Given the description of an element on the screen output the (x, y) to click on. 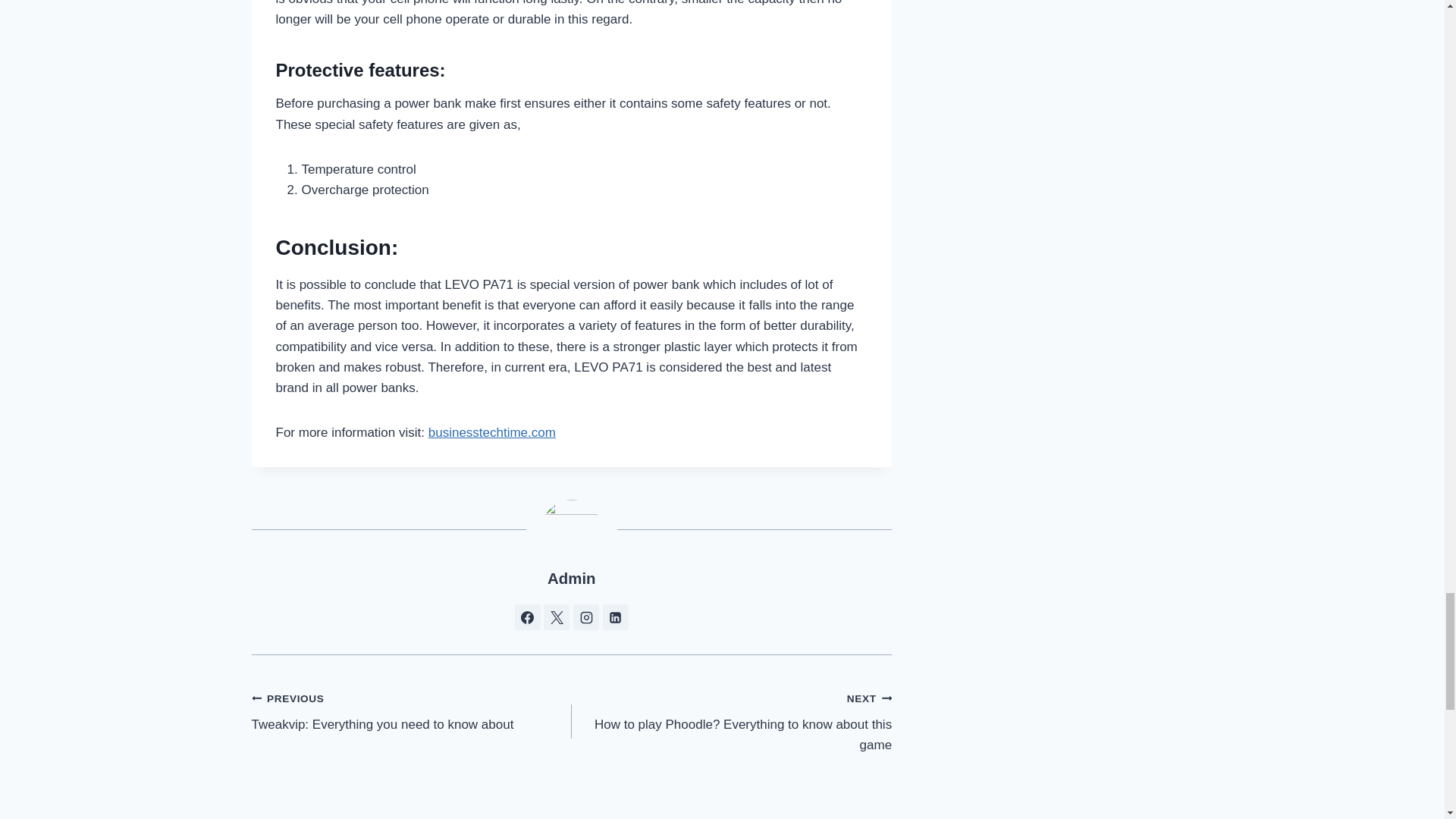
Follow Admin on Instagram (585, 616)
Follow Admin on X formerly Twitter (556, 616)
Follow Admin on Linkedin (411, 711)
businesstechtime.com (615, 616)
Posts by Admin (492, 432)
Follow Admin on Facebook (571, 578)
Admin (731, 721)
